Given the description of an element on the screen output the (x, y) to click on. 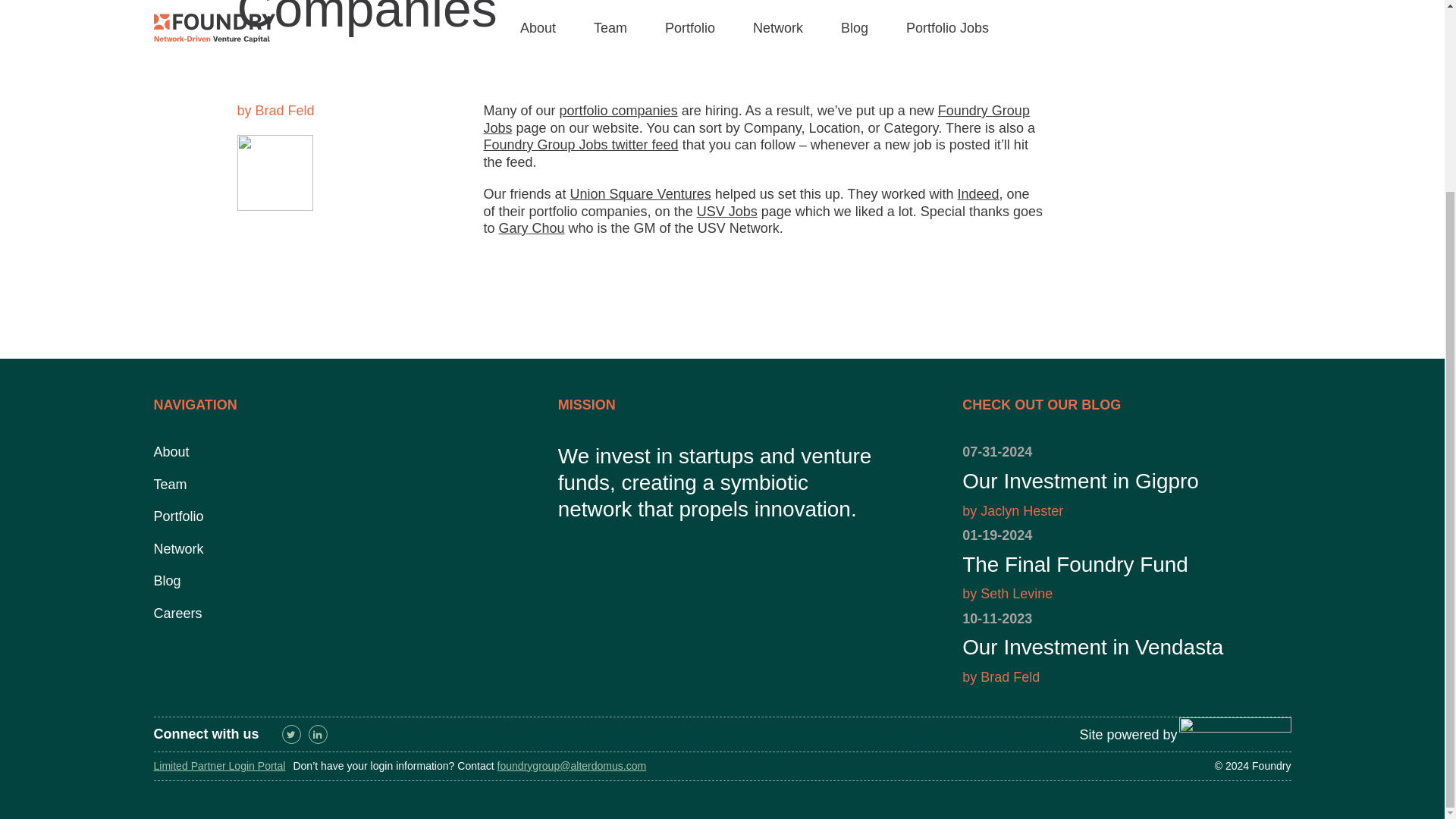
Gary Chou (531, 227)
Union Square Ventures (640, 193)
Foundry Group Jobs twitter feed (580, 144)
portfolio companies (618, 110)
USV Jobs (1126, 481)
Portfolio (727, 211)
Foundry Group Jobs (177, 516)
Blog (756, 119)
Limited Partner Login Portal (166, 580)
Indeed (218, 766)
Site powered by (978, 193)
About (1128, 734)
Network (170, 451)
